Given the description of an element on the screen output the (x, y) to click on. 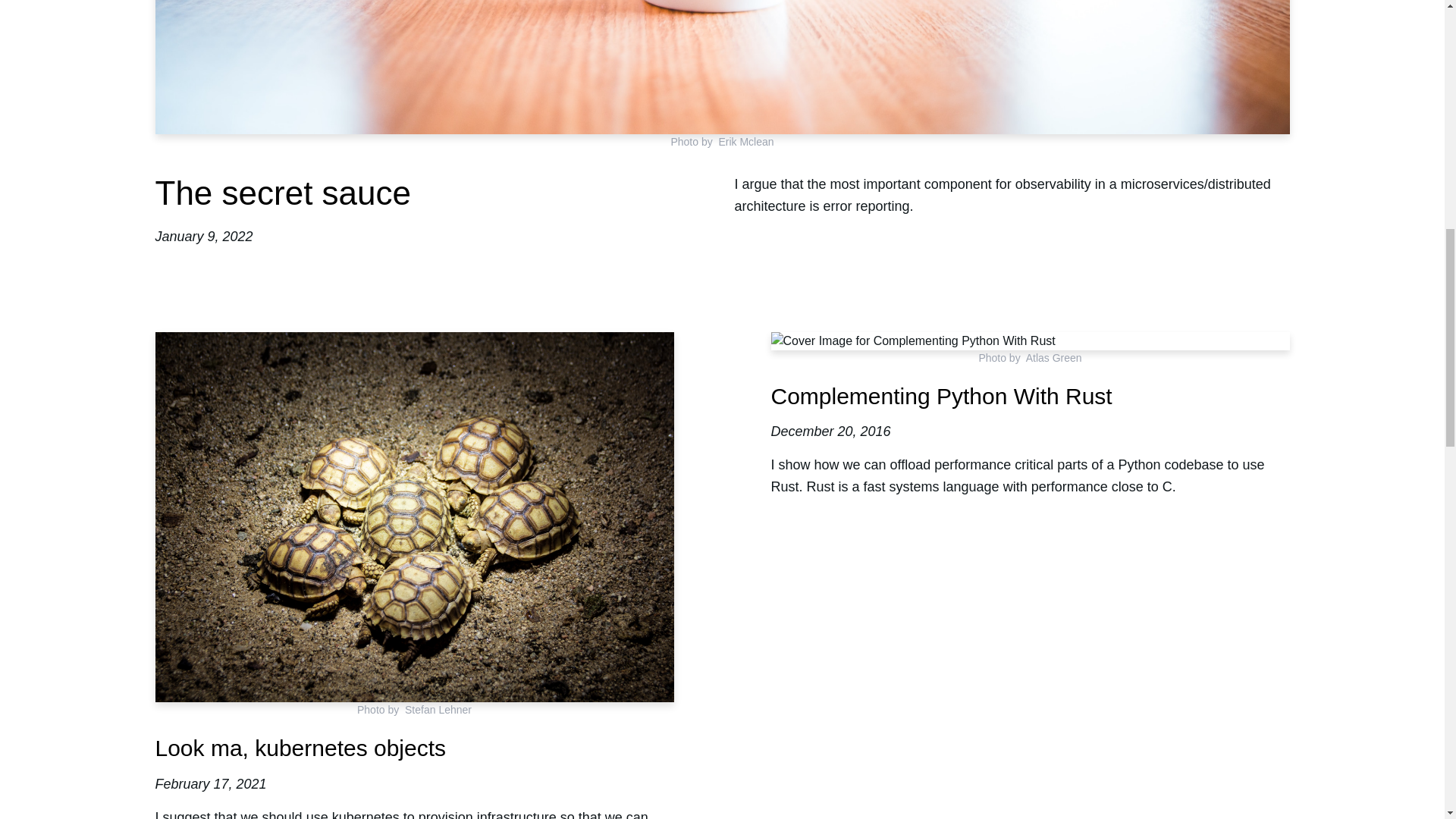
Atlas Green (1053, 357)
The secret sauce (282, 192)
Photo by   (1001, 357)
Complementing Python With Rust (941, 396)
Look ma, kubernetes objects (299, 747)
Photo by   (380, 709)
Stefan Lehner (437, 709)
Photo by   (693, 141)
Erik Mclean (745, 141)
